Given the description of an element on the screen output the (x, y) to click on. 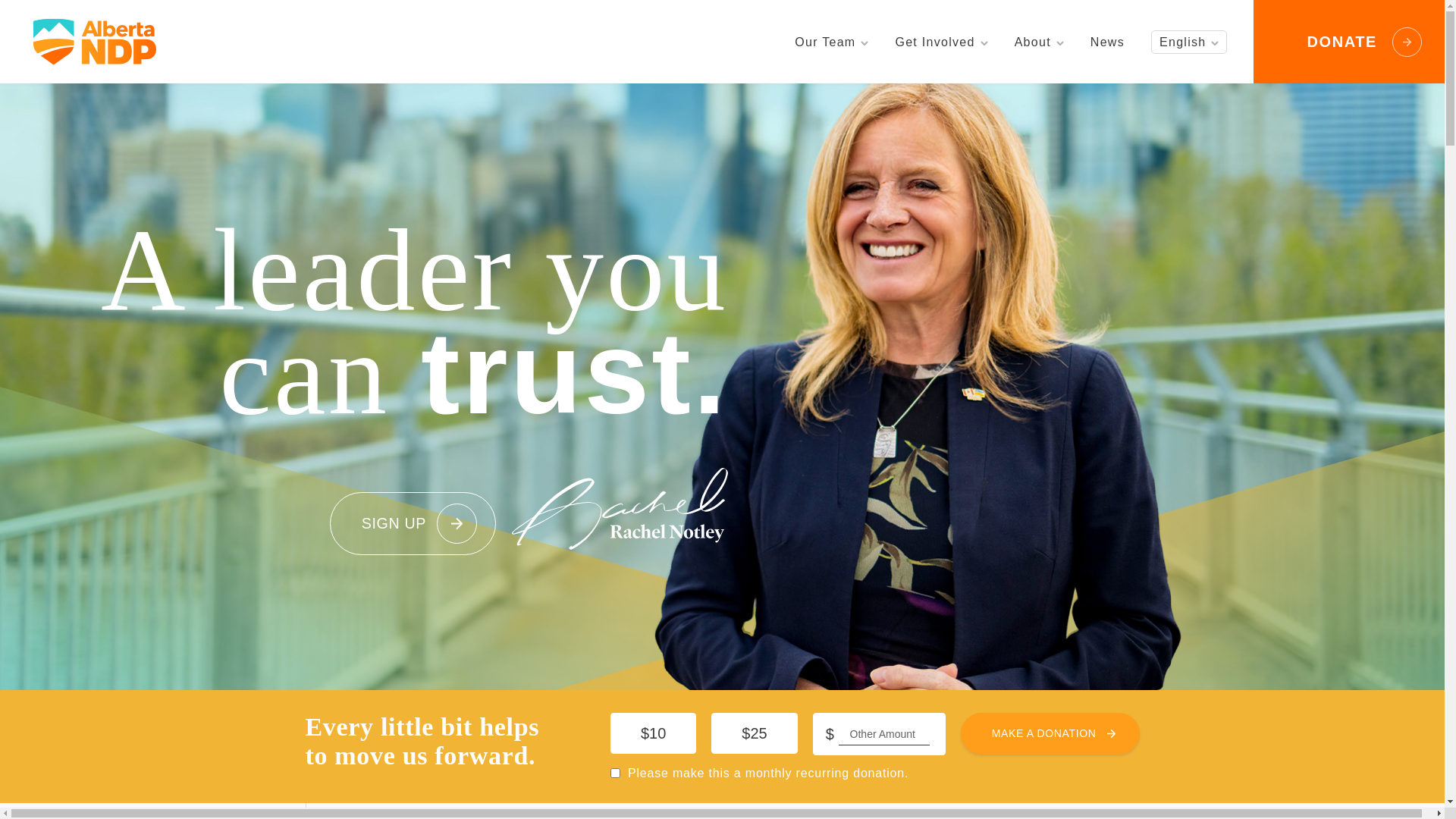
About Element type: text (1038, 41)
Our Team Element type: text (831, 41)
DONATE Element type: text (1348, 41)
Get Involved Element type: text (940, 41)
News Element type: text (1107, 41)
English Element type: text (1188, 41)
MAKE A DONATION Element type: text (1049, 733)
SIGN UP Element type: text (412, 523)
